Given the description of an element on the screen output the (x, y) to click on. 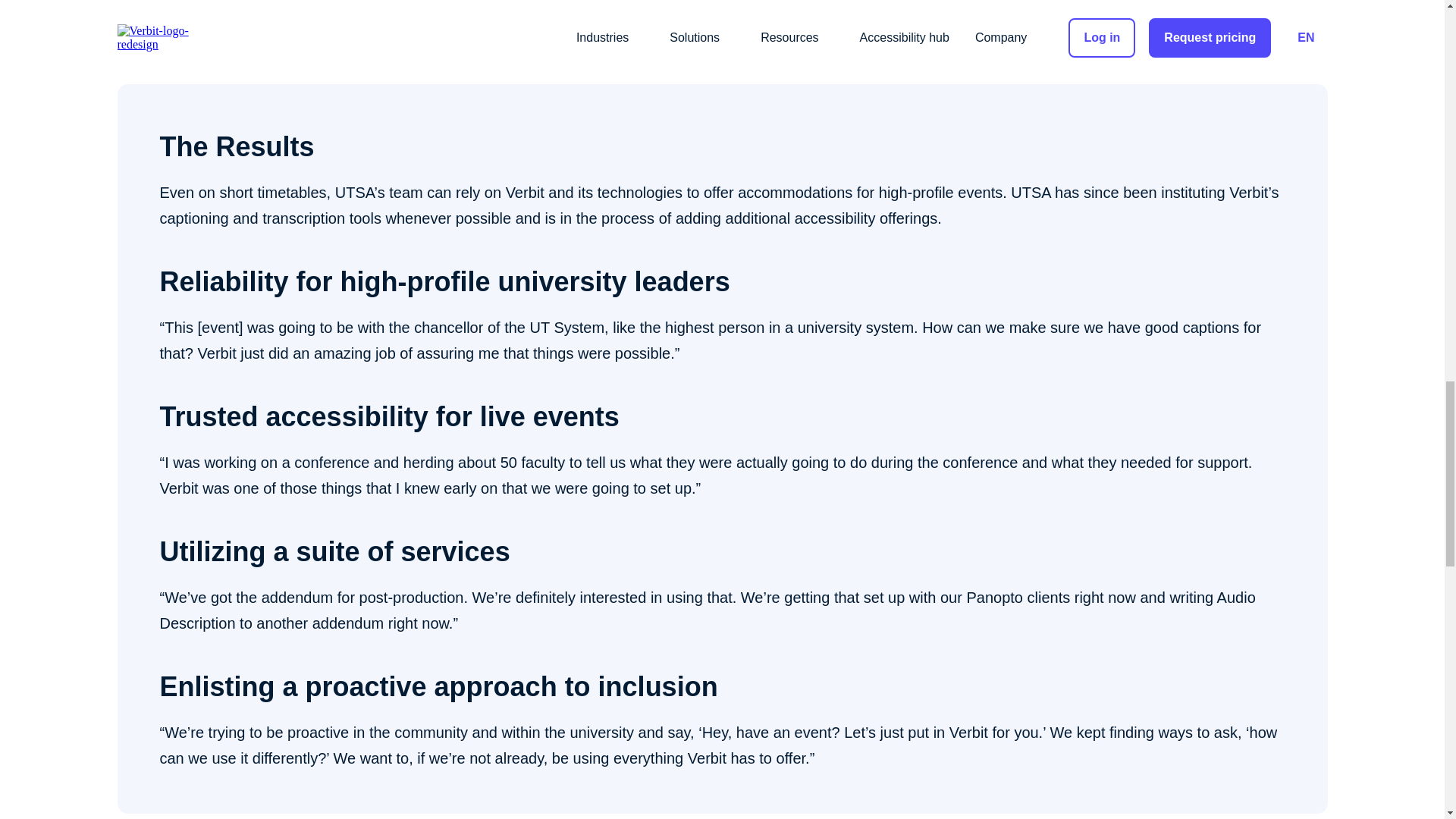
Page 1 (721, 18)
